Given the description of an element on the screen output the (x, y) to click on. 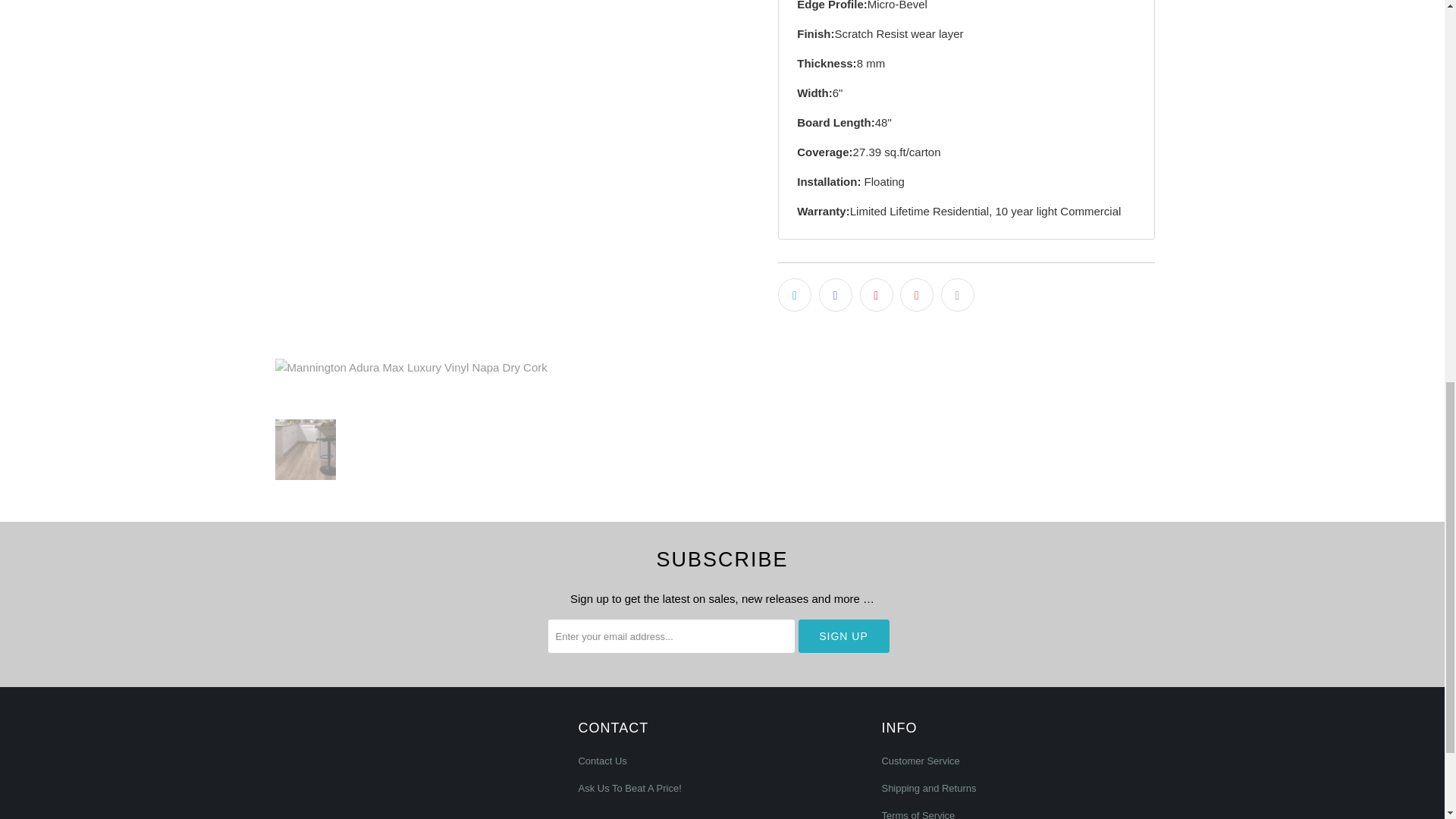
Share this on Pinterest (876, 295)
Share this on Twitter (793, 295)
Email this to a friend (957, 295)
Share this on Facebook (834, 295)
Sign Up (842, 635)
